Given the description of an element on the screen output the (x, y) to click on. 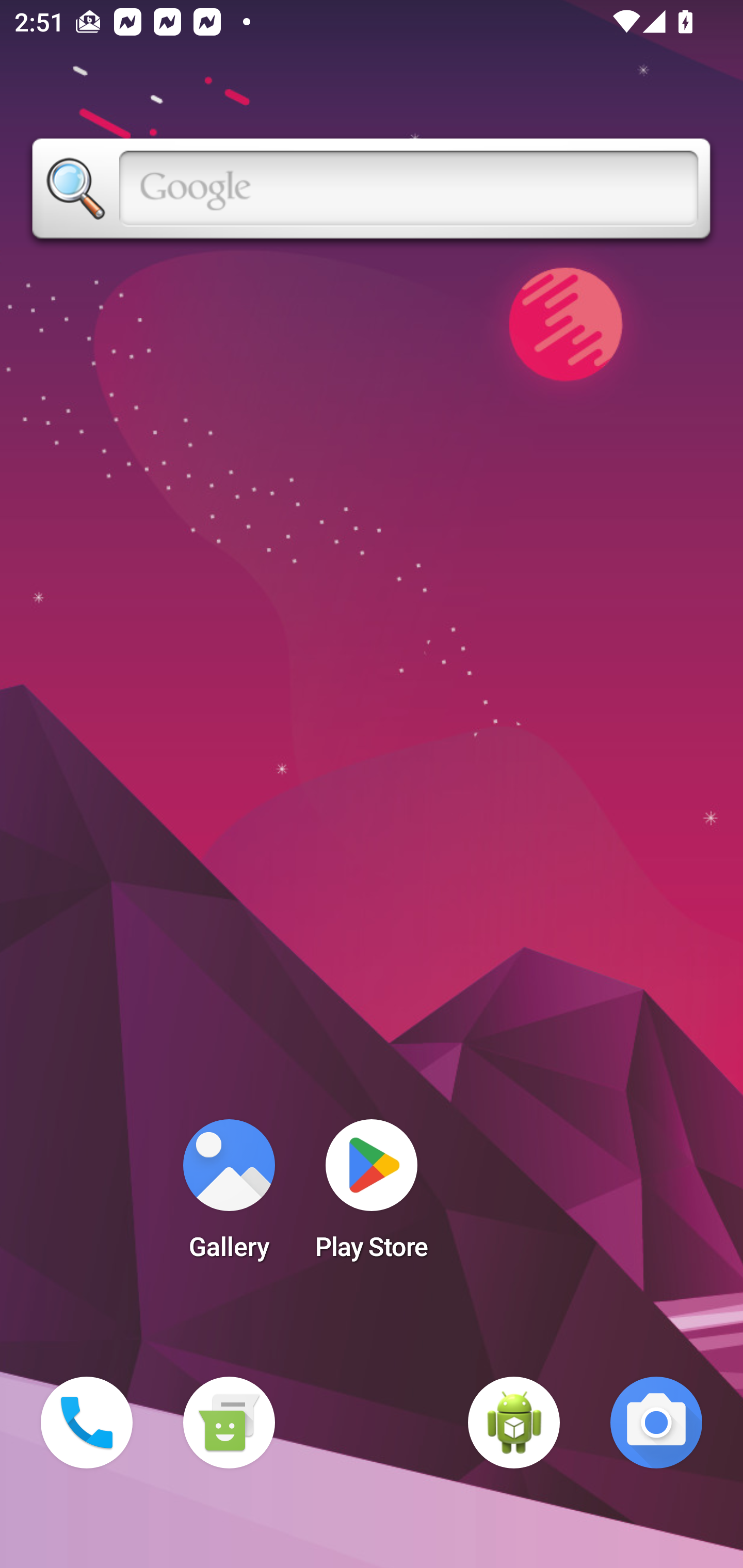
Gallery (228, 1195)
Play Store (371, 1195)
Phone (86, 1422)
Messaging (228, 1422)
WebView Browser Tester (513, 1422)
Camera (656, 1422)
